Given the description of an element on the screen output the (x, y) to click on. 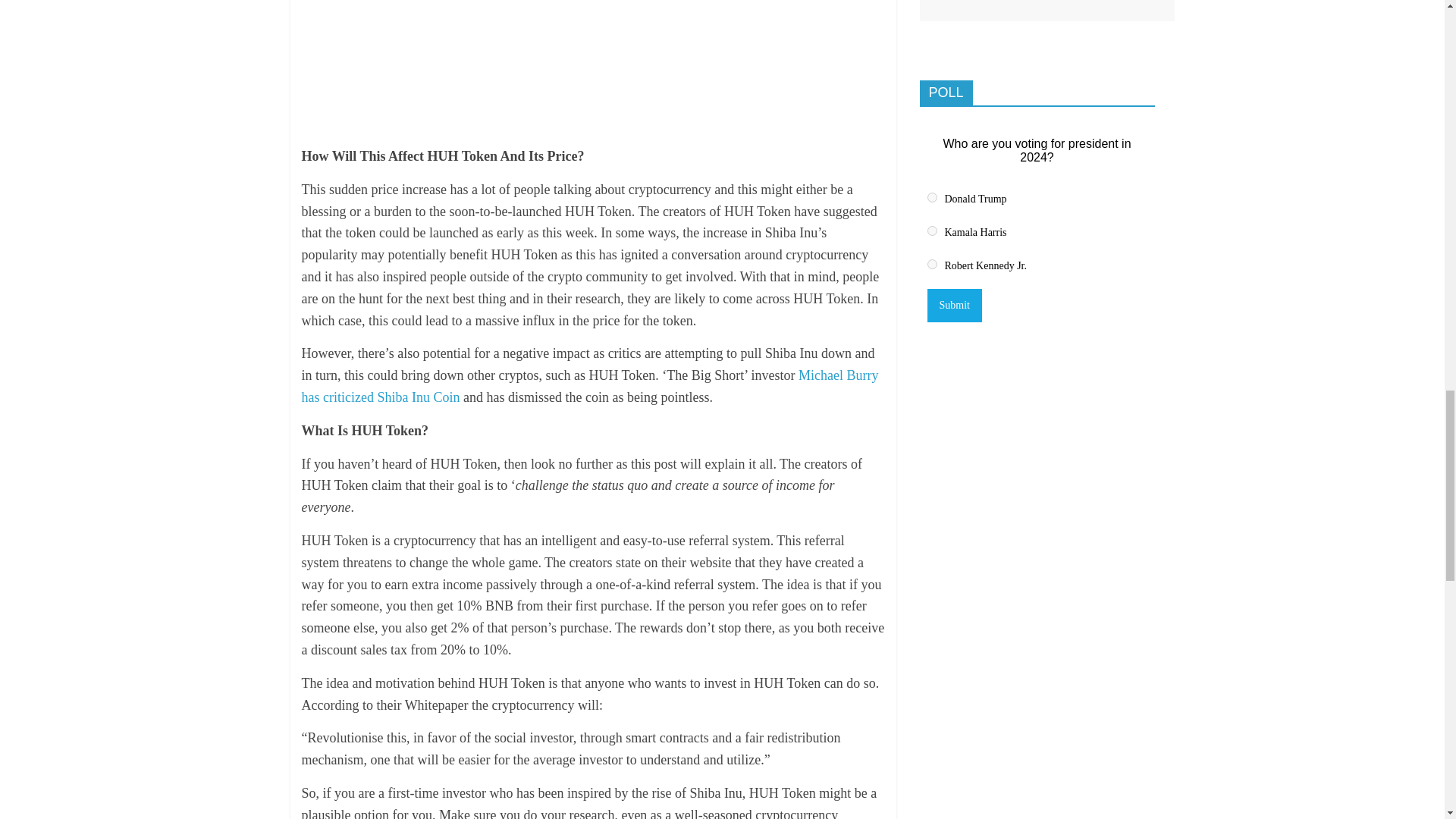
Michael Burry has criticized Shiba Inu Coin (590, 385)
2 (931, 230)
1 (931, 197)
3 (931, 264)
